Given the description of an element on the screen output the (x, y) to click on. 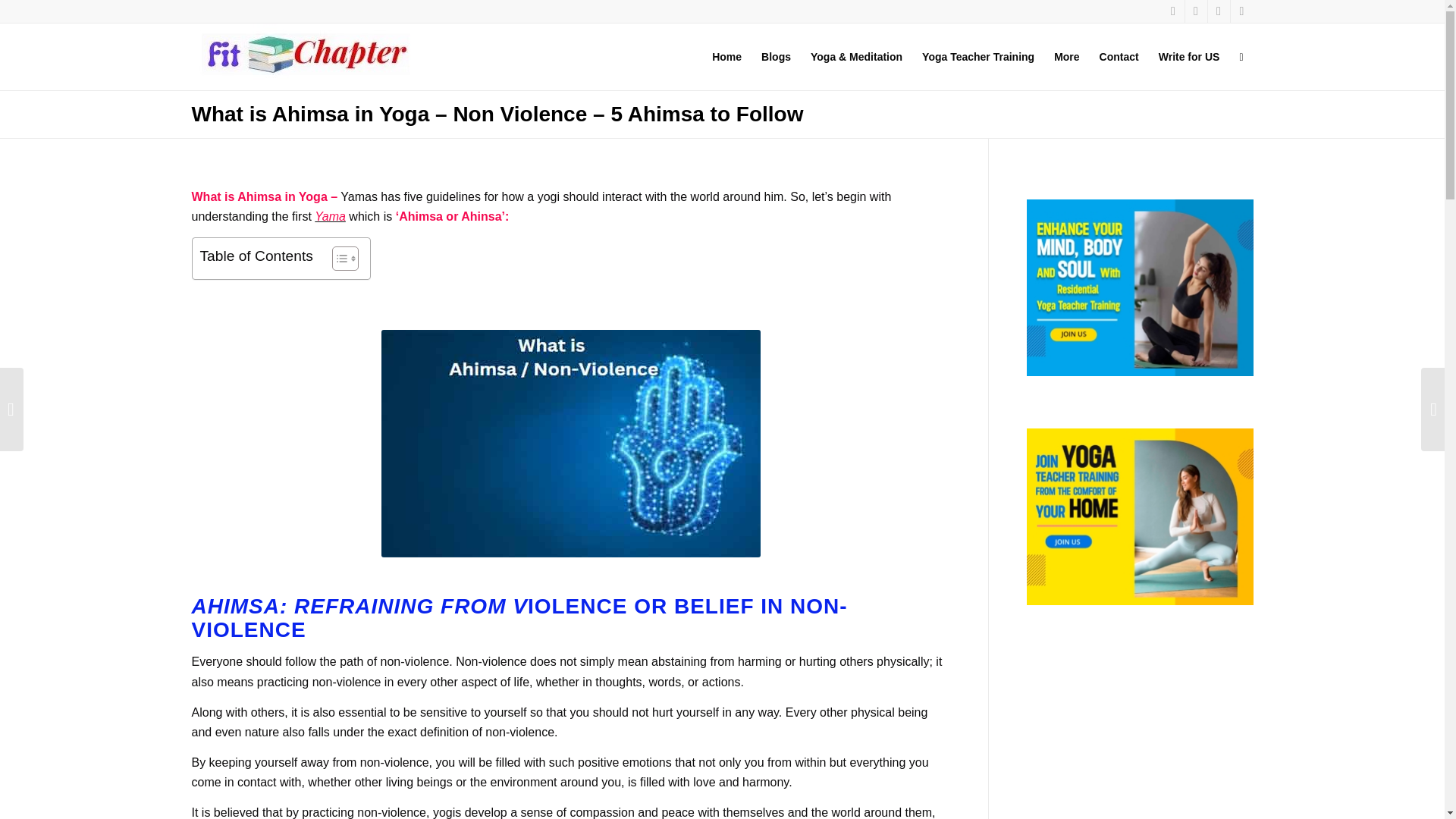
Facebook (1196, 11)
Write for US (1189, 56)
LinkedIn (1241, 11)
fit-chapter-logo (301, 51)
Twitter (1172, 11)
Instagram (1217, 11)
Yama (330, 215)
Yoga Teacher Training (977, 56)
